Given the description of an element on the screen output the (x, y) to click on. 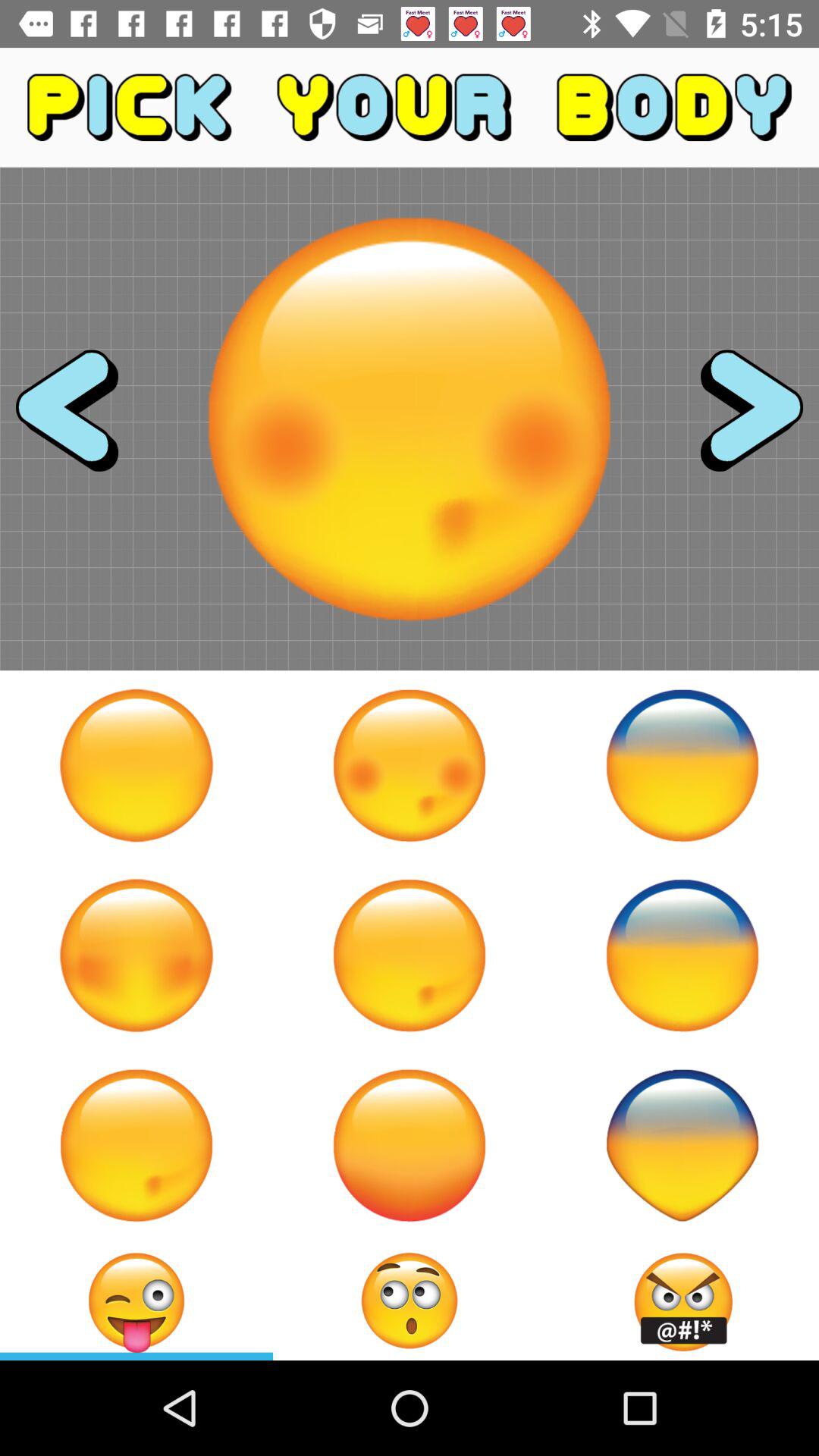
select body (136, 955)
